Given the description of an element on the screen output the (x, y) to click on. 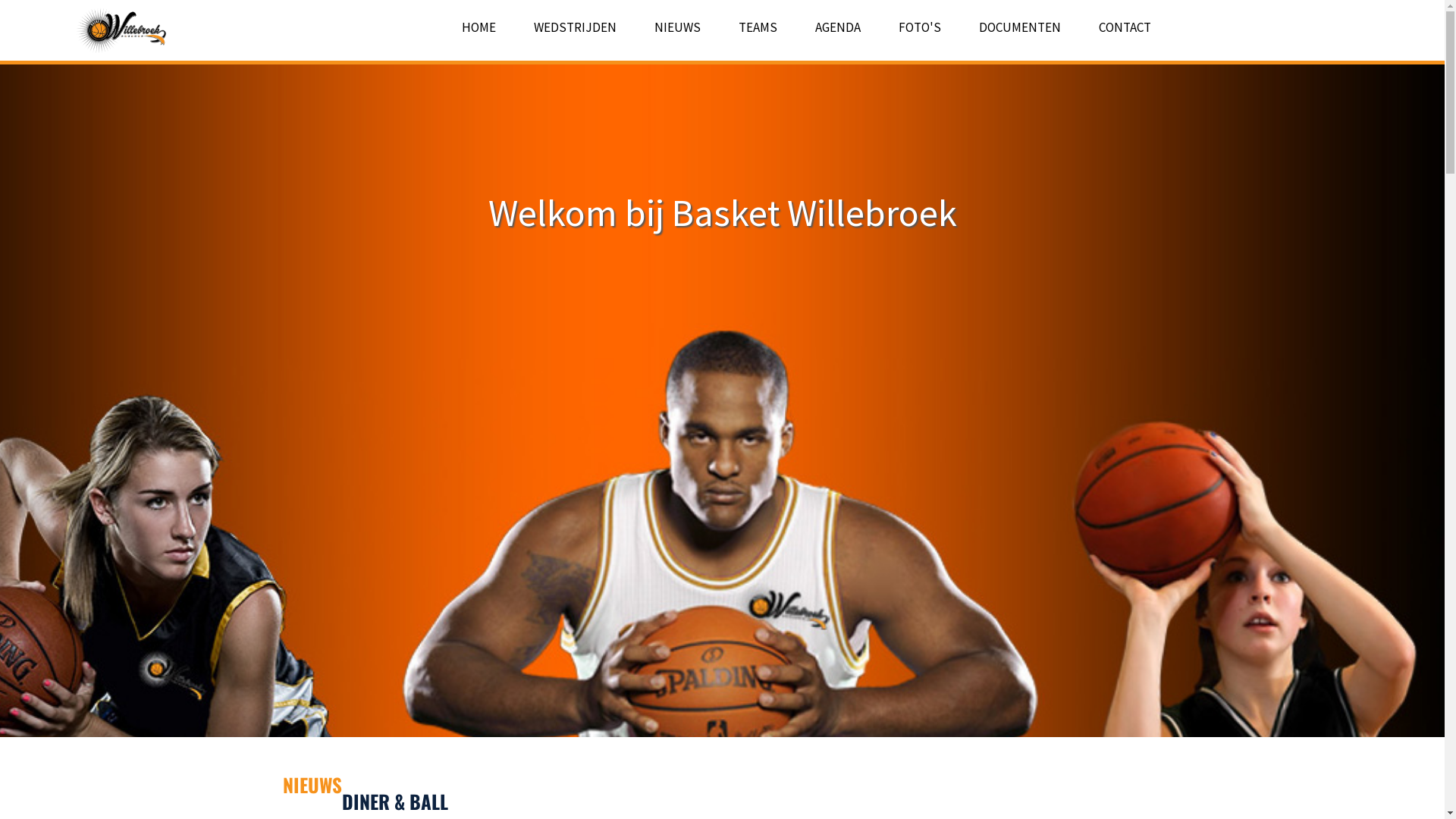
TEAMS Element type: text (757, 27)
DOCUMENTEN Element type: text (1019, 27)
FOTO'S Element type: text (918, 27)
HOME Element type: text (478, 27)
AGENDA Element type: text (836, 27)
WEDSTRIJDEN Element type: text (574, 27)
CONTACT Element type: text (1124, 27)
NIEUWS Element type: text (676, 27)
DINER & BALL Element type: text (394, 801)
